Given the description of an element on the screen output the (x, y) to click on. 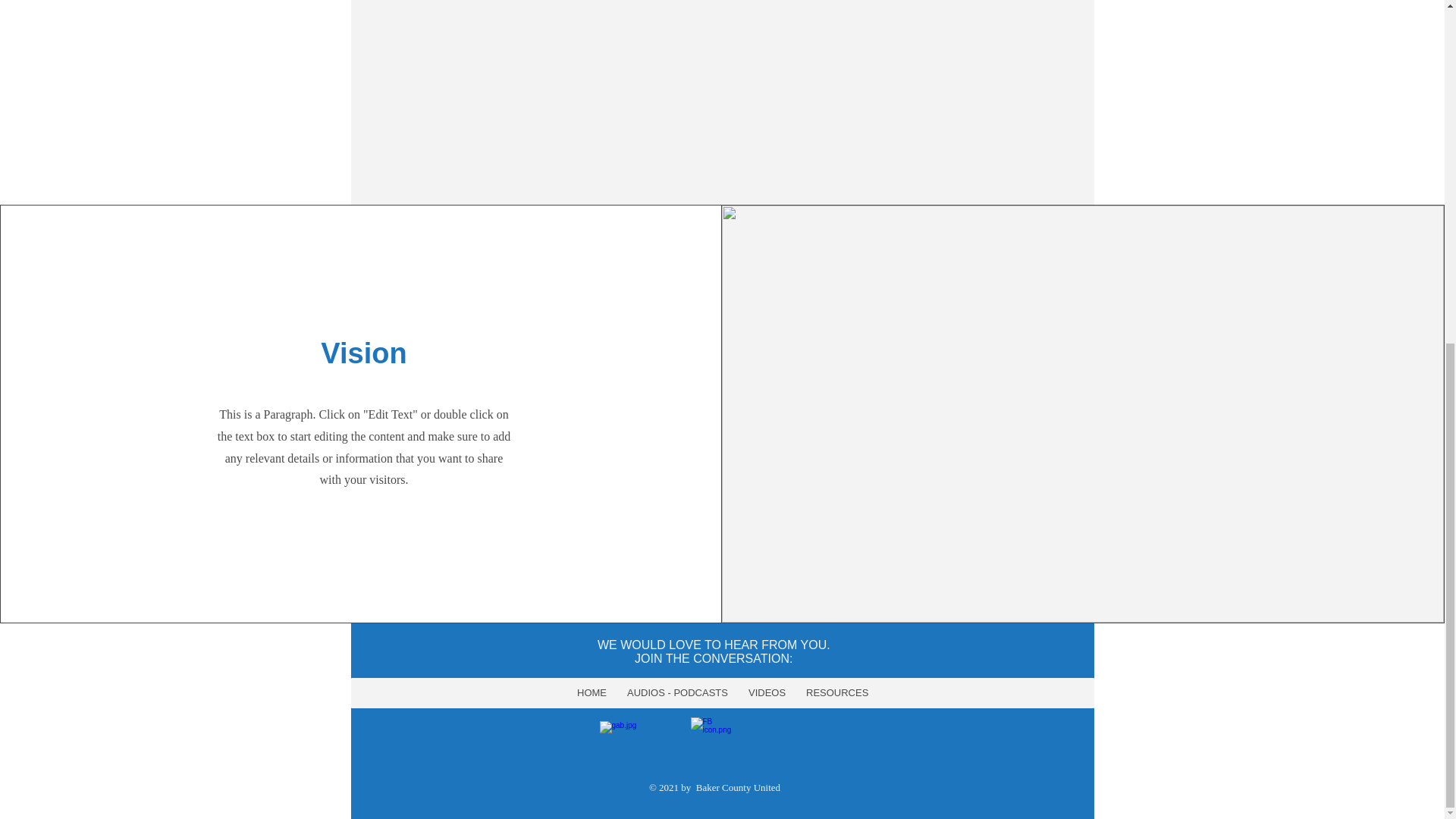
AUDIOS - PODCASTS (676, 693)
VIDEOS (766, 693)
RESOURCES (835, 693)
HOME (590, 693)
